Given the description of an element on the screen output the (x, y) to click on. 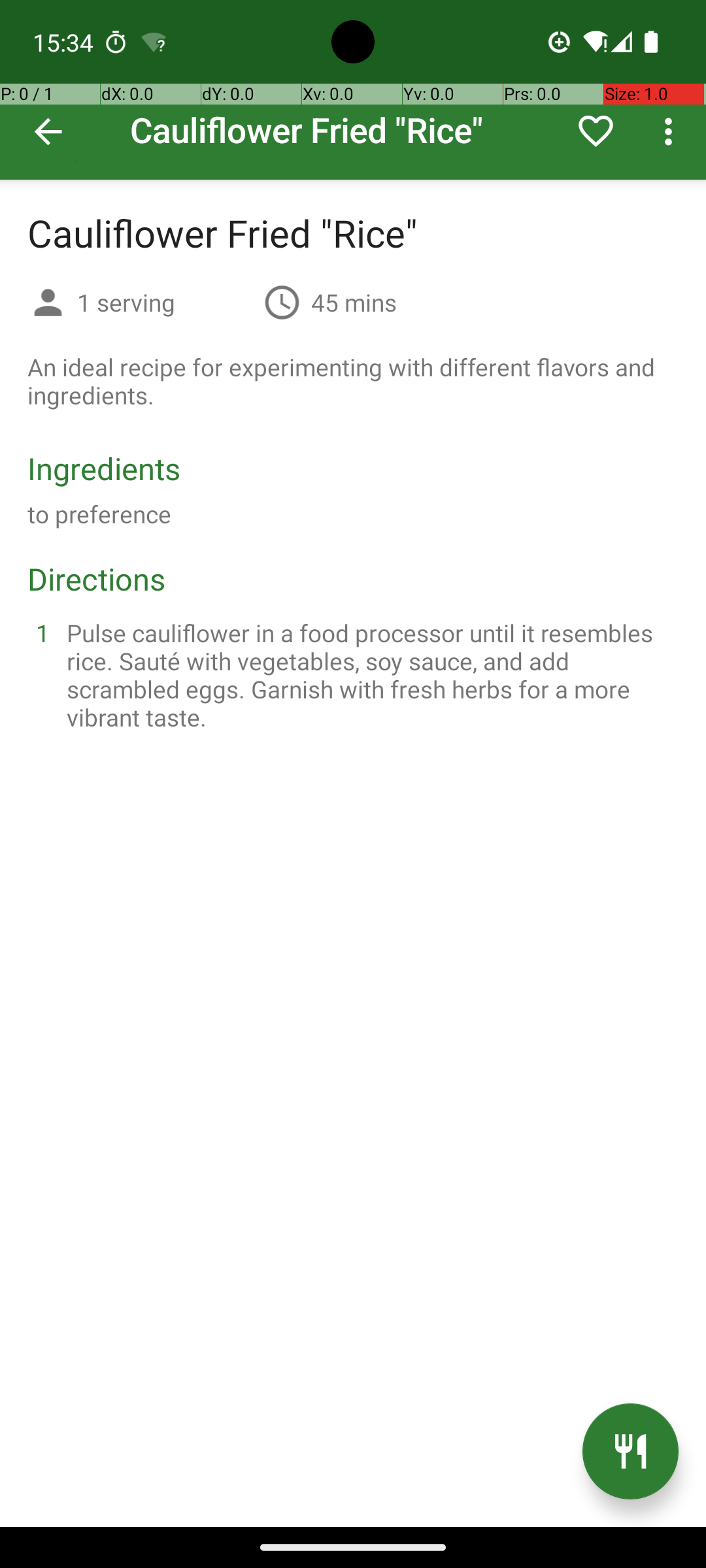
Pulse cauliflower in a food processor until it resembles rice. Sauté with vegetables, soy sauce, and add scrambled eggs. Garnish with fresh herbs for a more vibrant taste. Element type: android.widget.TextView (368, 674)
